Given the description of an element on the screen output the (x, y) to click on. 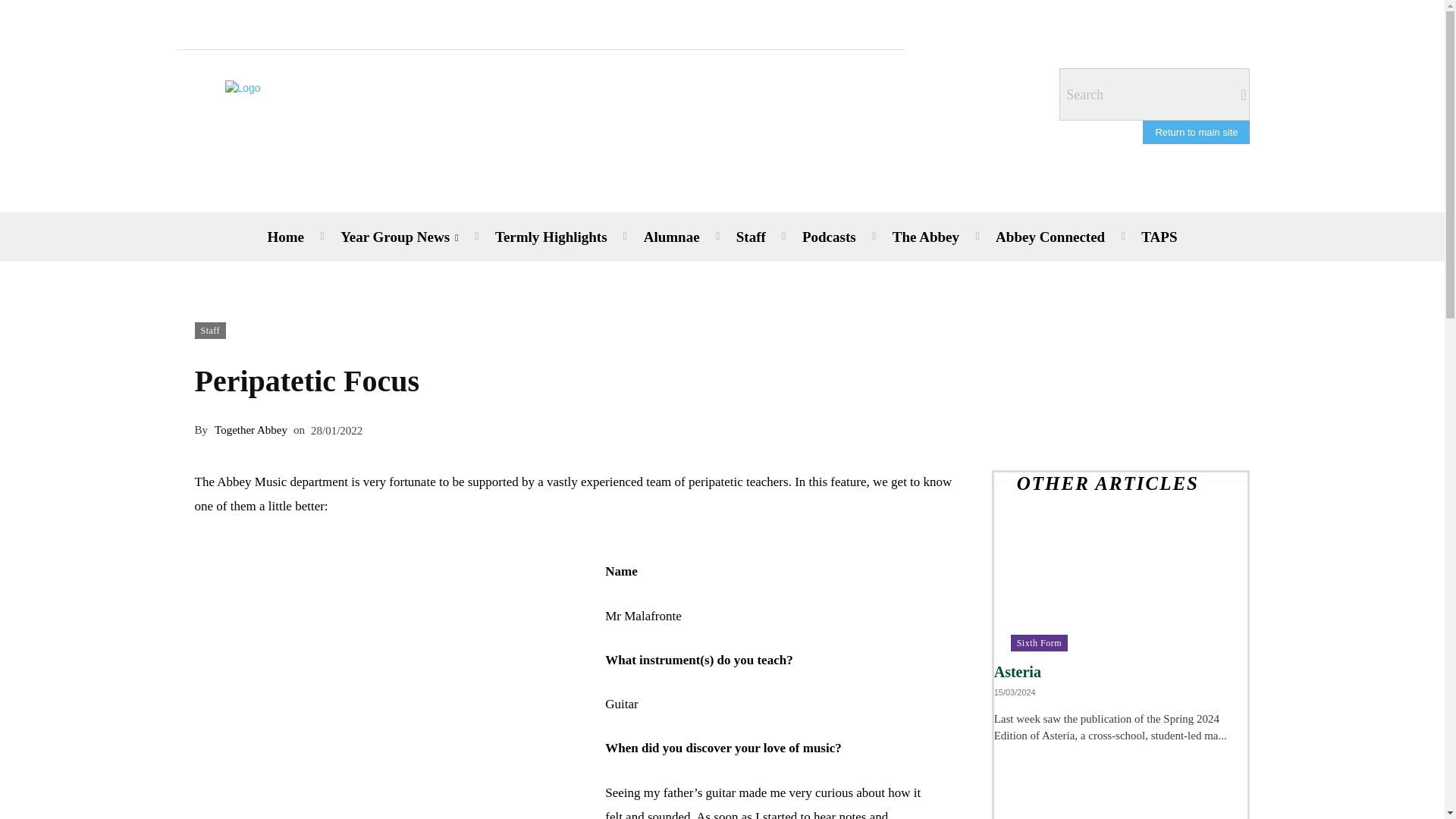
Return to main site (1195, 132)
Year Group News (399, 236)
Return to main site (1195, 132)
Termly Highlights (551, 236)
Home (284, 236)
Podcasts (828, 236)
Alumnae (671, 236)
Asteria (1120, 587)
Asteria (1017, 671)
Staff (750, 236)
